Given the description of an element on the screen output the (x, y) to click on. 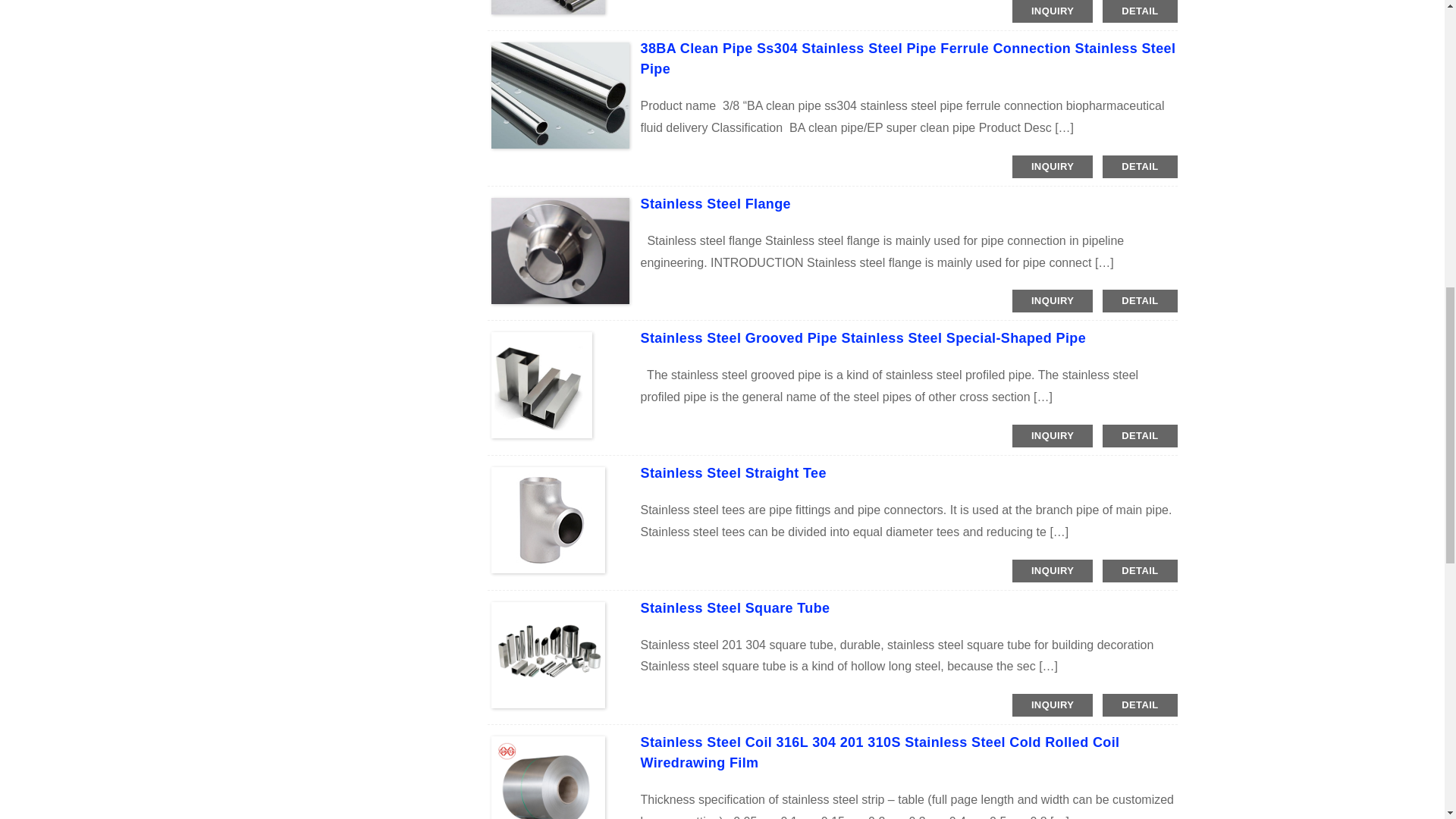
INQUIRY (1052, 166)
Stainless Steel Flange (715, 203)
DETAIL (1139, 436)
INQUIRY (1052, 436)
DETAIL (1139, 300)
DETAIL (1139, 166)
DETAIL (1139, 11)
